Given the description of an element on the screen output the (x, y) to click on. 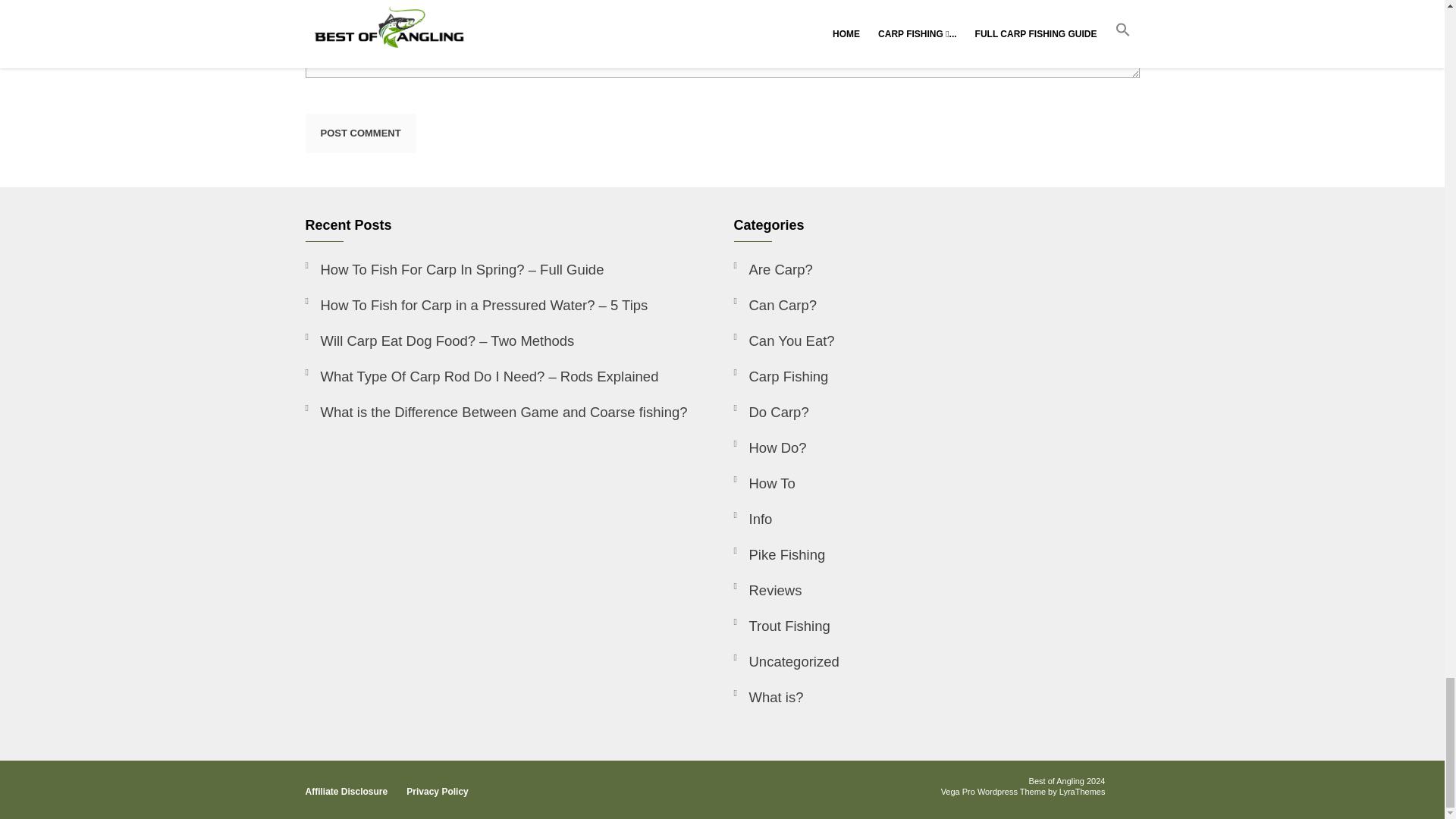
Post Comment (359, 133)
Carp Fishing (780, 376)
Can Carp? (774, 305)
How Do? (769, 447)
Vega Pro Wordpress Theme (992, 791)
Can You Eat? (783, 340)
Are Carp? (772, 269)
What is the Difference Between Game and Coarse fishing? (495, 411)
How To (763, 483)
What is? (768, 697)
